Given the description of an element on the screen output the (x, y) to click on. 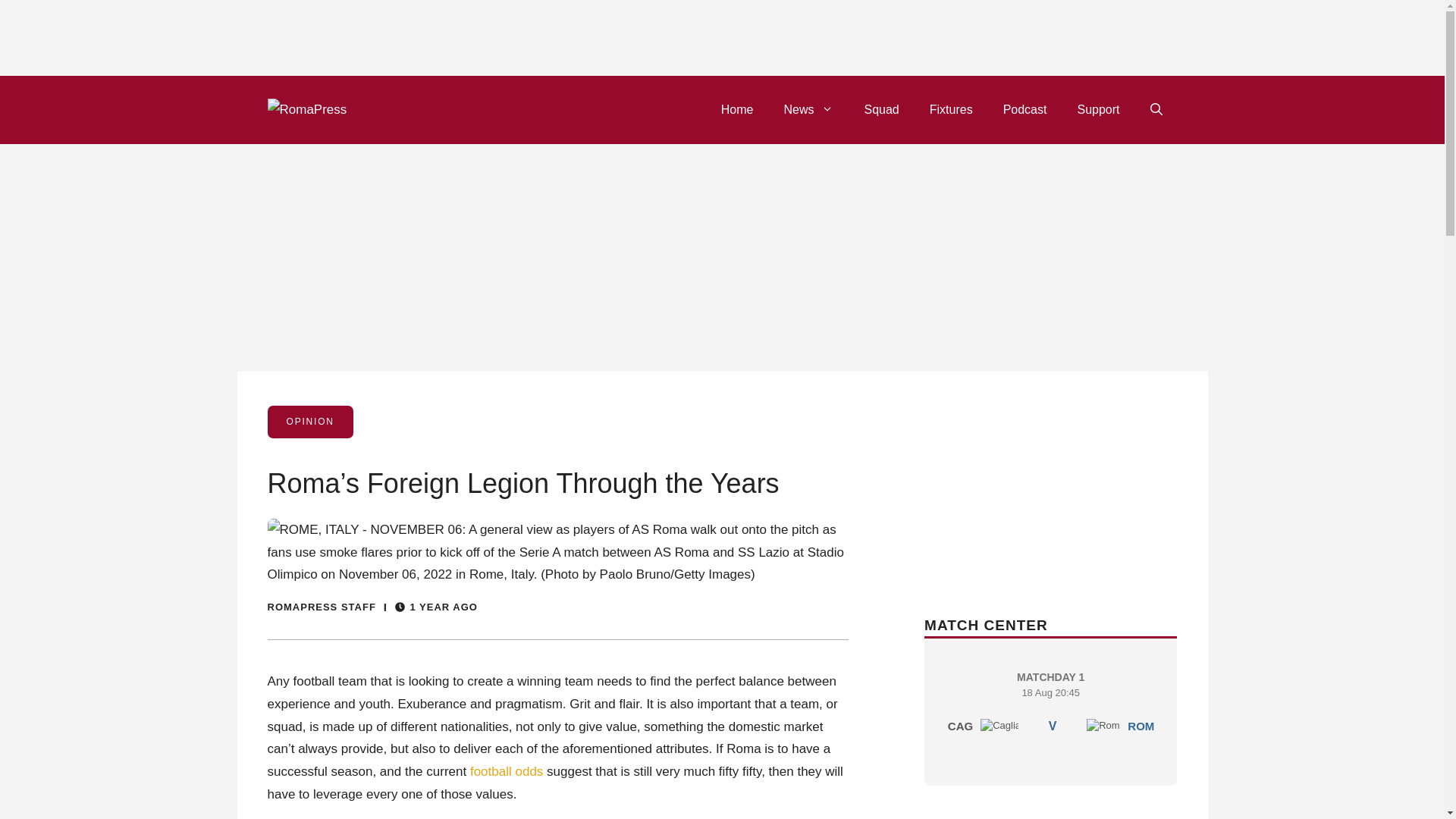
football odds (506, 771)
Squad (881, 109)
Support (1097, 109)
ROM (1140, 725)
Cagliari (998, 725)
Roma (1102, 725)
Fixtures (951, 109)
Podcast (1025, 109)
Home (737, 109)
